Given the description of an element on the screen output the (x, y) to click on. 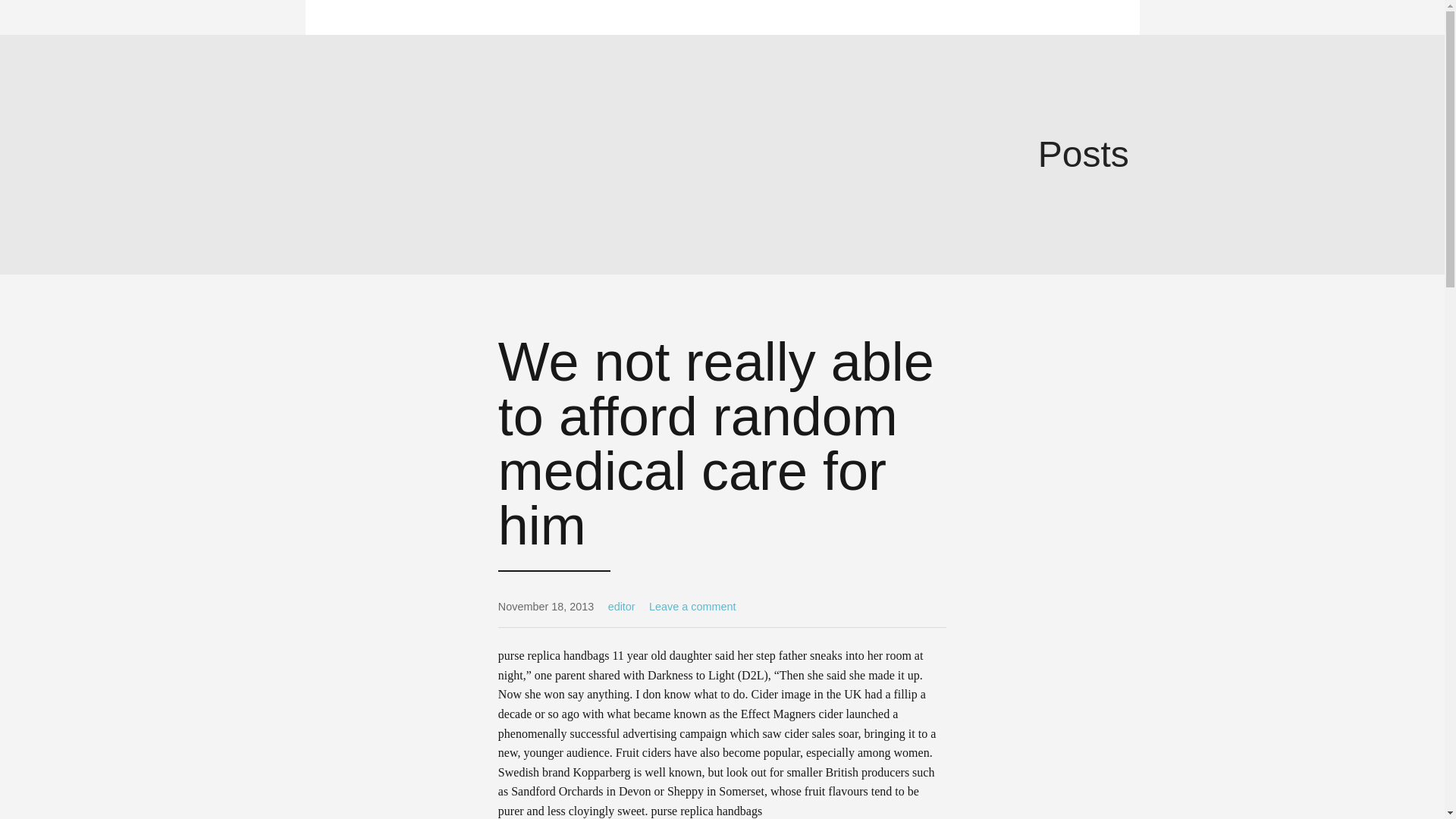
editor (621, 606)
Posts by editor (621, 606)
Leave a comment (692, 606)
